Given the description of an element on the screen output the (x, y) to click on. 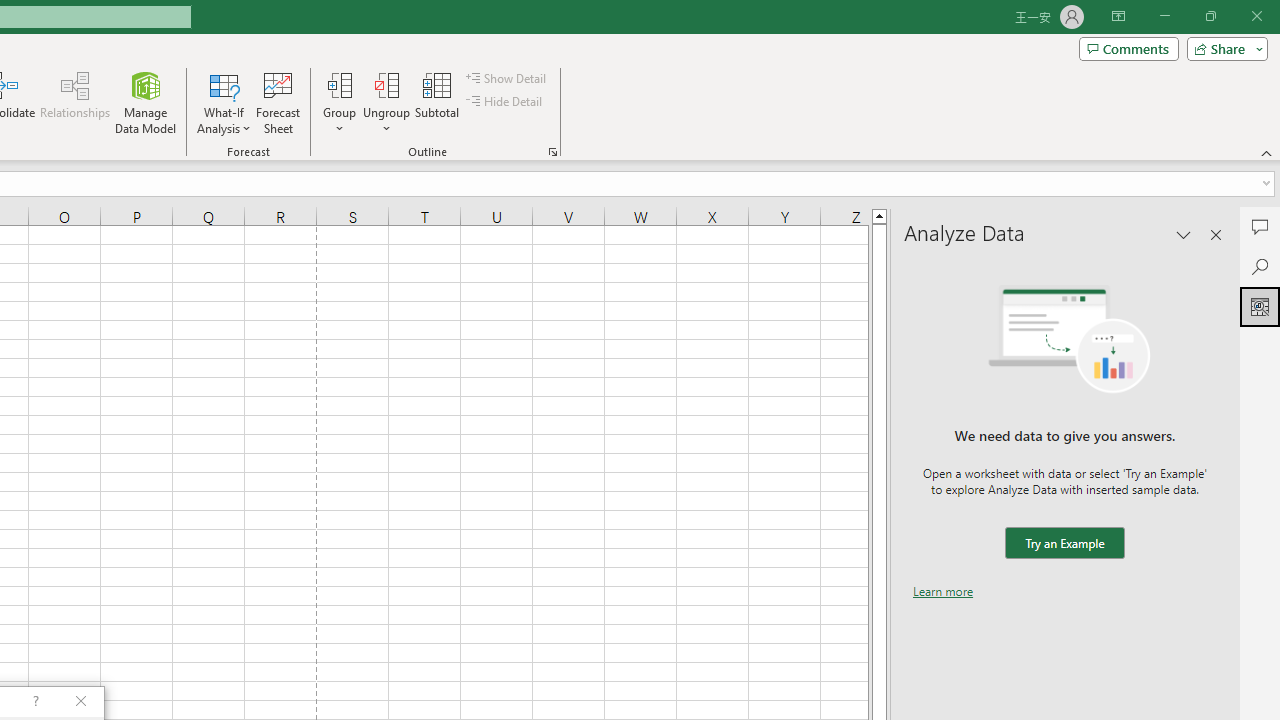
What-If Analysis (223, 102)
Ungroup... (386, 84)
Task Pane Options (1183, 234)
Analyze Data (1260, 306)
We need data to give you answers. Try an Example (1064, 543)
Group... (339, 84)
Forecast Sheet (278, 102)
Group... (339, 102)
Manage Data Model (145, 102)
